Given the description of an element on the screen output the (x, y) to click on. 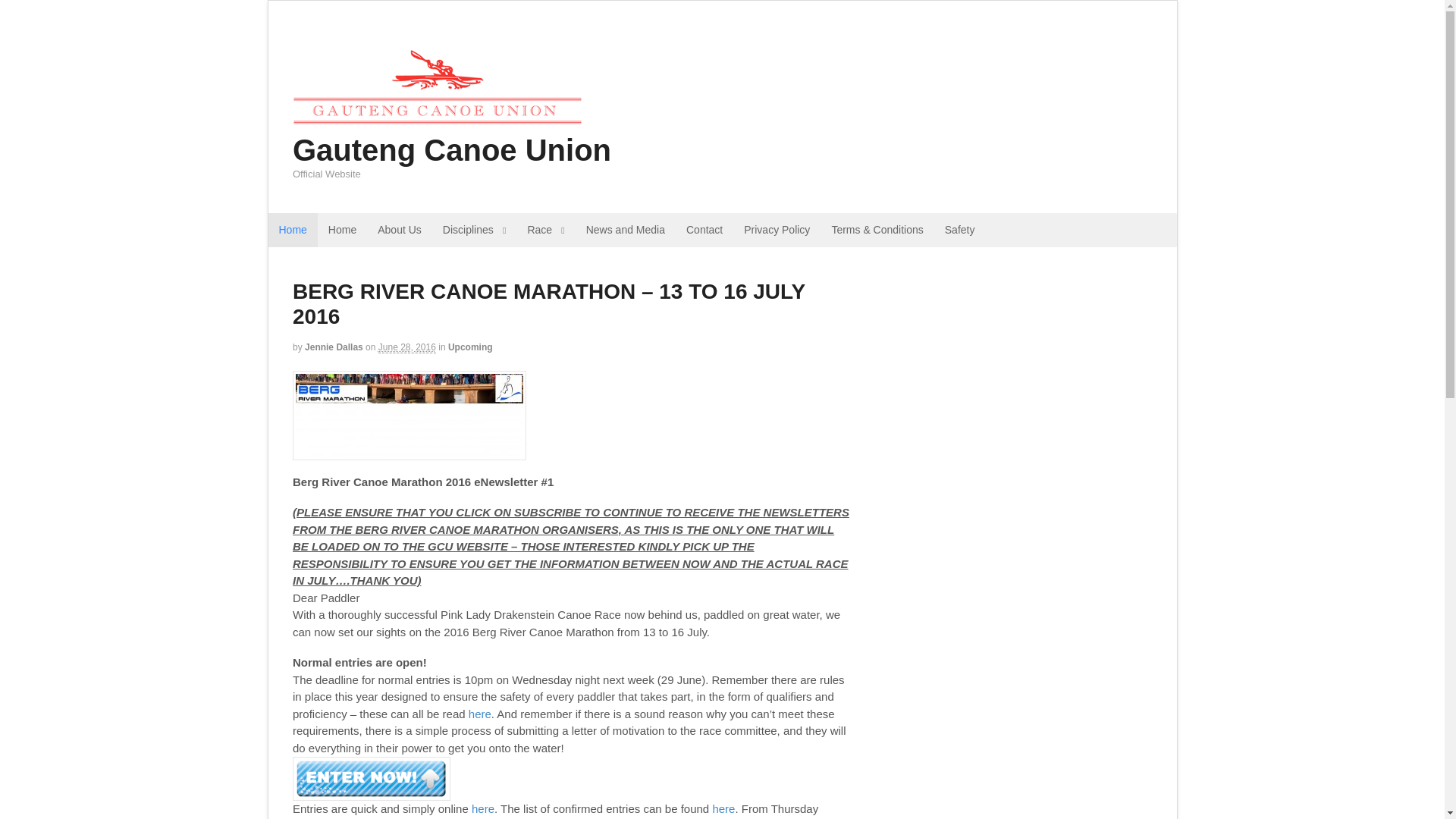
Disciplines (474, 229)
Privacy Policy (777, 229)
News and Media (625, 229)
About Us (399, 229)
Contact (704, 229)
Posts by Jennie Dallas (333, 347)
Race (545, 229)
Jennie Dallas (333, 347)
here (480, 713)
Official Website (436, 126)
Safety (959, 229)
here (483, 808)
here (723, 808)
Upcoming (470, 347)
View all items in Upcoming (470, 347)
